Given the description of an element on the screen output the (x, y) to click on. 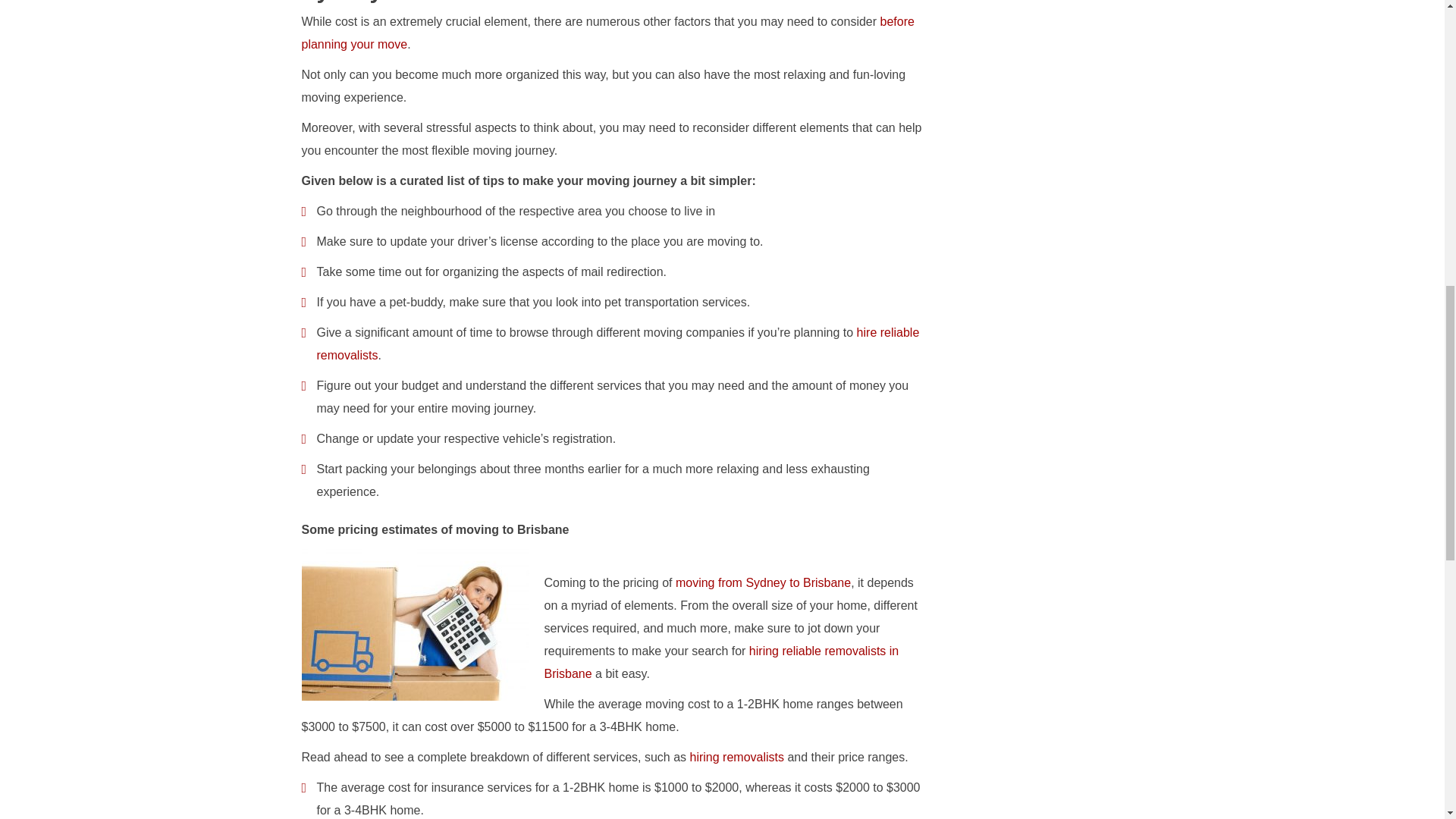
hire reliable removalists (618, 343)
moving from Sydney to Brisbane (762, 582)
hiring reliable removalists in Brisbane (721, 662)
before planning your move (607, 32)
hiring removalists (737, 757)
